Given the description of an element on the screen output the (x, y) to click on. 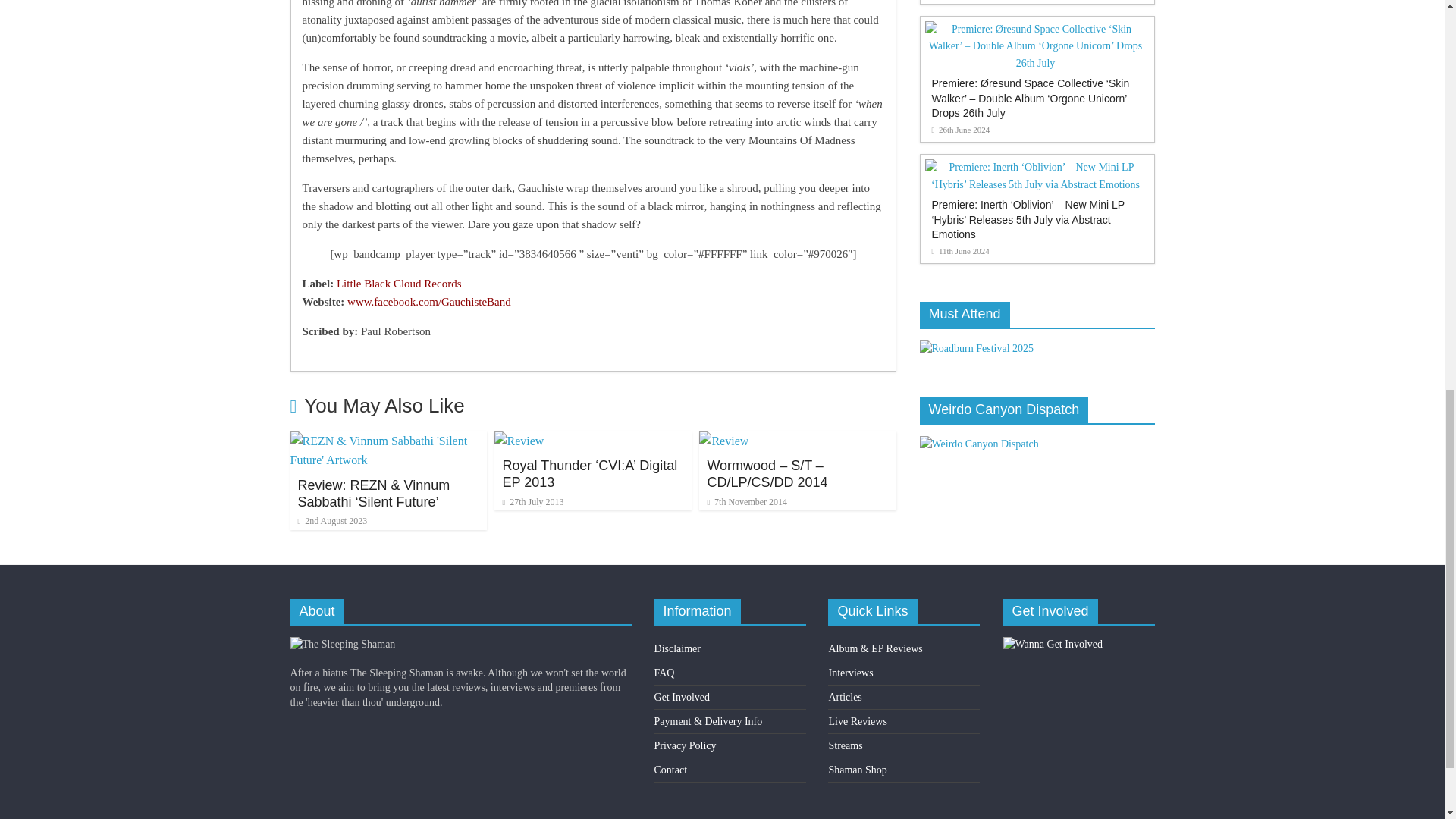
10:00 am (331, 520)
